Given the description of an element on the screen output the (x, y) to click on. 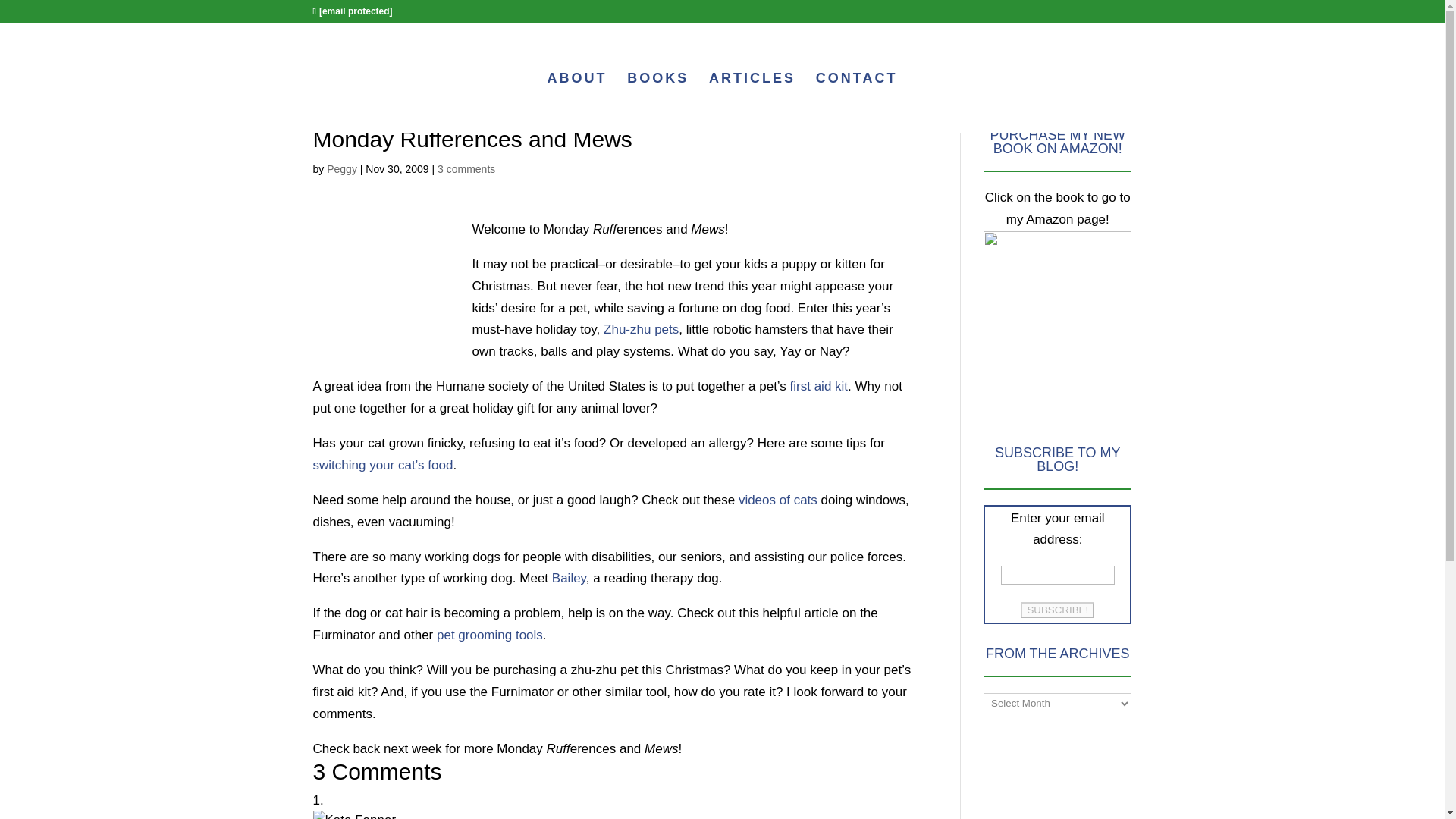
ABOUT (577, 102)
Zhu-zhu pets (641, 329)
pet grooming tools (487, 635)
Bailey (567, 577)
SUBSCRIBE! (1057, 609)
Posts by Peggy (341, 168)
ARTICLES (751, 102)
BOOKS (657, 102)
3 comments (466, 168)
first aid kit (819, 386)
Peggy (341, 168)
videos of cats (777, 499)
SUBSCRIBE! (1057, 609)
CONTACT (856, 102)
